Given the description of an element on the screen output the (x, y) to click on. 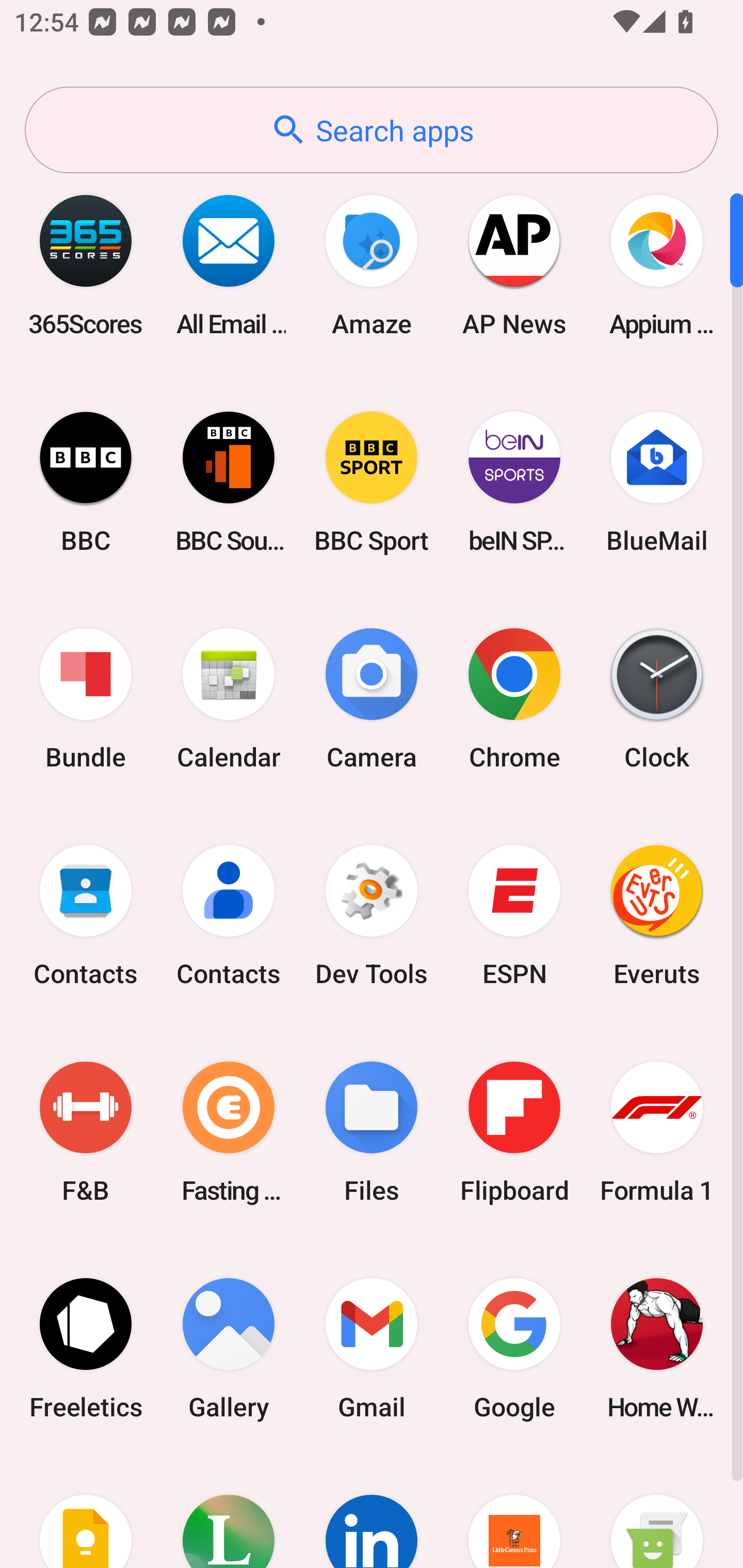
  Search apps (371, 130)
365Scores (85, 264)
All Email Connect (228, 264)
Amaze (371, 264)
AP News (514, 264)
Appium Settings (656, 264)
BBC (85, 482)
BBC Sounds (228, 482)
BBC Sport (371, 482)
beIN SPORTS (514, 482)
BlueMail (656, 482)
Bundle (85, 699)
Calendar (228, 699)
Camera (371, 699)
Chrome (514, 699)
Clock (656, 699)
Contacts (85, 915)
Contacts (228, 915)
Dev Tools (371, 915)
ESPN (514, 915)
Everuts (656, 915)
F&B (85, 1131)
Fasting Coach (228, 1131)
Files (371, 1131)
Flipboard (514, 1131)
Formula 1 (656, 1131)
Freeletics (85, 1348)
Gallery (228, 1348)
Gmail (371, 1348)
Google (514, 1348)
Home Workout (656, 1348)
Keep Notes (85, 1512)
Lifesum (228, 1512)
LinkedIn (371, 1512)
Little Caesars Pizza (514, 1512)
Messaging (656, 1512)
